Given the description of an element on the screen output the (x, y) to click on. 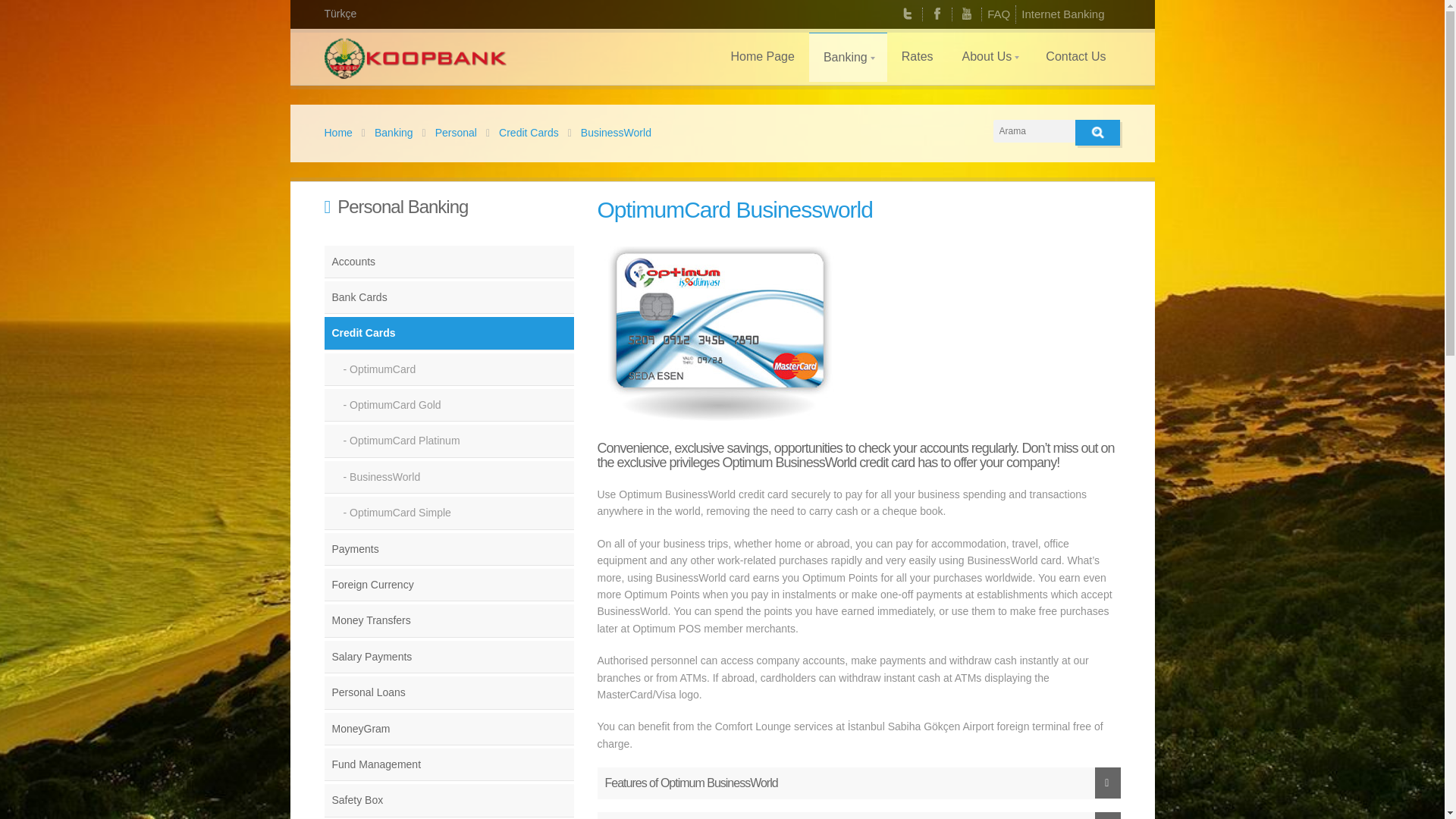
Twitter (907, 14)
KOOPBANK - BusinessWorld - Credit Cards (524, 132)
KOOPBANK - BusinessWorld - BusinessWorld (611, 132)
KOOPBANK (415, 60)
Home Page (762, 56)
Internet Banking (1062, 13)
YouTube (966, 14)
Facebook (937, 14)
Banking (847, 57)
FAQ (998, 13)
KOOPBANK - BusinessWorld - Home (338, 132)
KOOPBANK - BusinessWorld - Personal (451, 132)
KOOPBANK - BusinessWorld - Banking (389, 132)
